Given the description of an element on the screen output the (x, y) to click on. 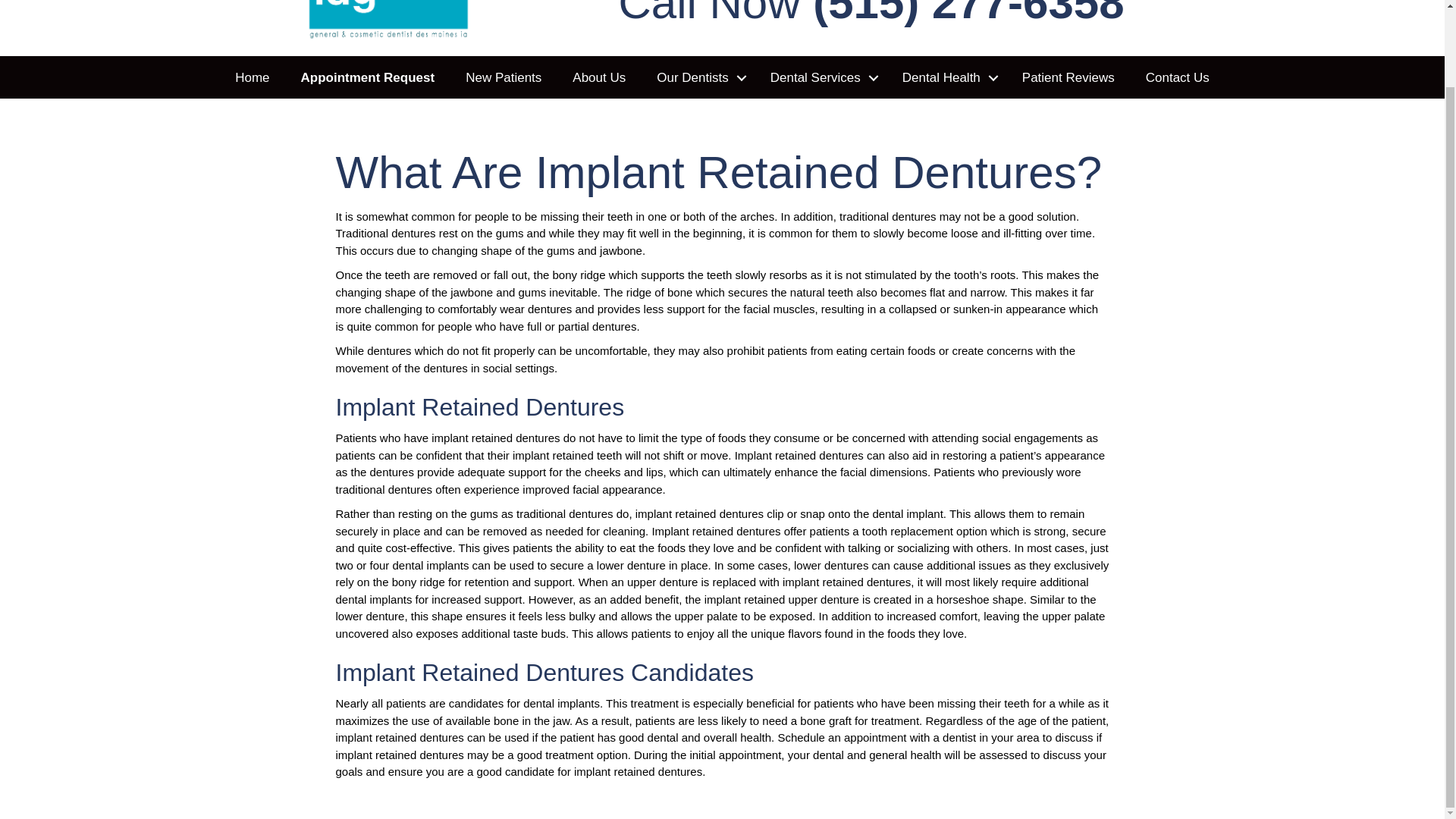
Home (251, 77)
New Patients (502, 77)
Dental Services (820, 77)
Appointment Request (367, 77)
IowaDentalGroupLogowTagline (387, 20)
Our Dentists (698, 77)
About Us (598, 77)
